Given the description of an element on the screen output the (x, y) to click on. 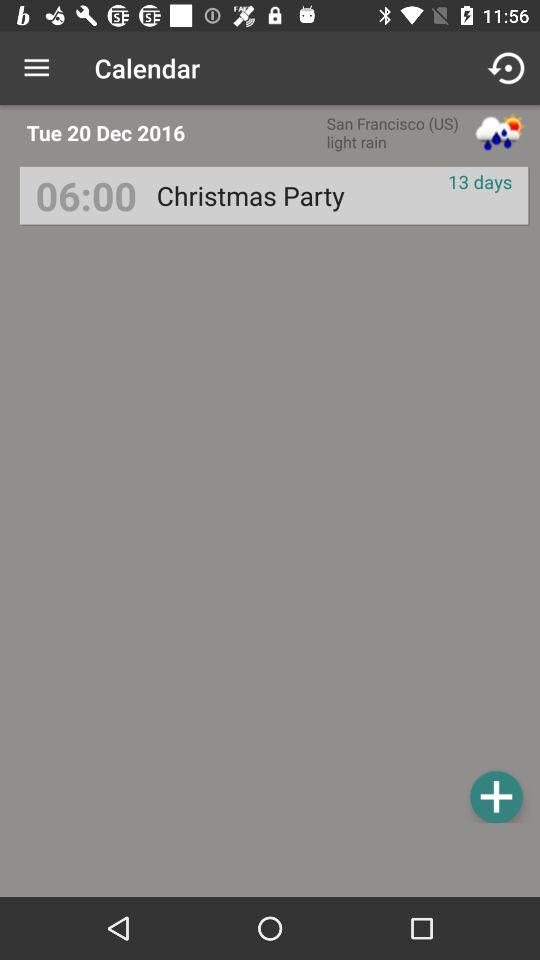
click the icon below the tue 20 dec icon (85, 195)
